Given the description of an element on the screen output the (x, y) to click on. 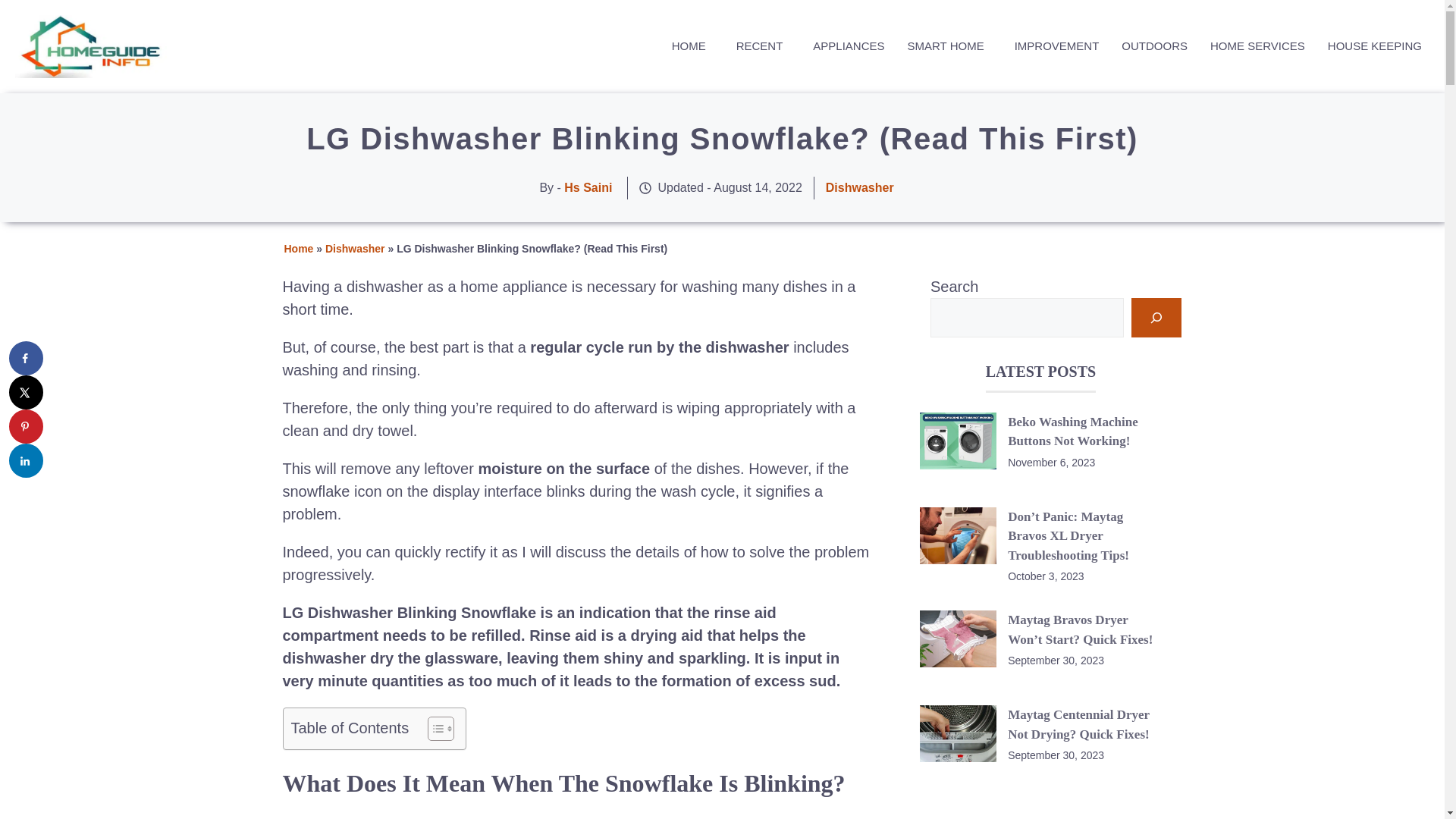
Dishwasher (354, 248)
HOUSE KEEPING (1371, 46)
Hs Saini (587, 187)
Home (298, 248)
HOME (688, 46)
Dishwasher (859, 187)
HOME SERVICES (1254, 46)
RECENT (758, 46)
SMART HOME (945, 46)
OUTDOORS (1150, 46)
